Given the description of an element on the screen output the (x, y) to click on. 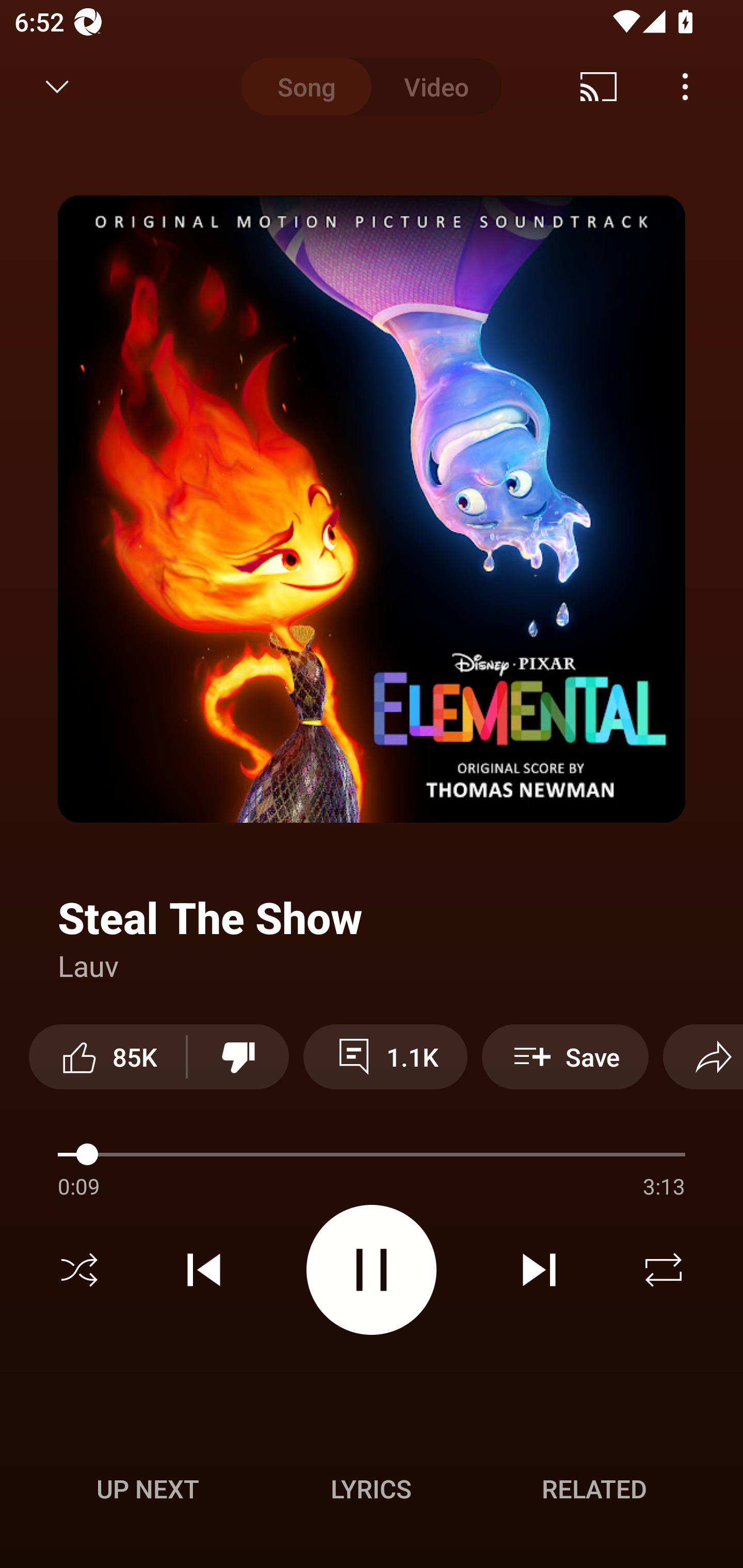
Minimize (57, 86)
Cast. Disconnected (598, 86)
Menu (684, 86)
85K like this video along with 85,792 other people (106, 1056)
Undo dislike (238, 1056)
1.1K View 1,180 comments (385, 1056)
Save Save to playlist (565, 1056)
Share (702, 1056)
Pause video (371, 1269)
Shuffle off (79, 1269)
Previous track (203, 1269)
Next track (538, 1269)
Repeat off (663, 1269)
Up next UP NEXT Lyrics LYRICS Related RELATED (371, 1491)
Lyrics LYRICS (370, 1488)
Related RELATED (594, 1488)
